Given the description of an element on the screen output the (x, y) to click on. 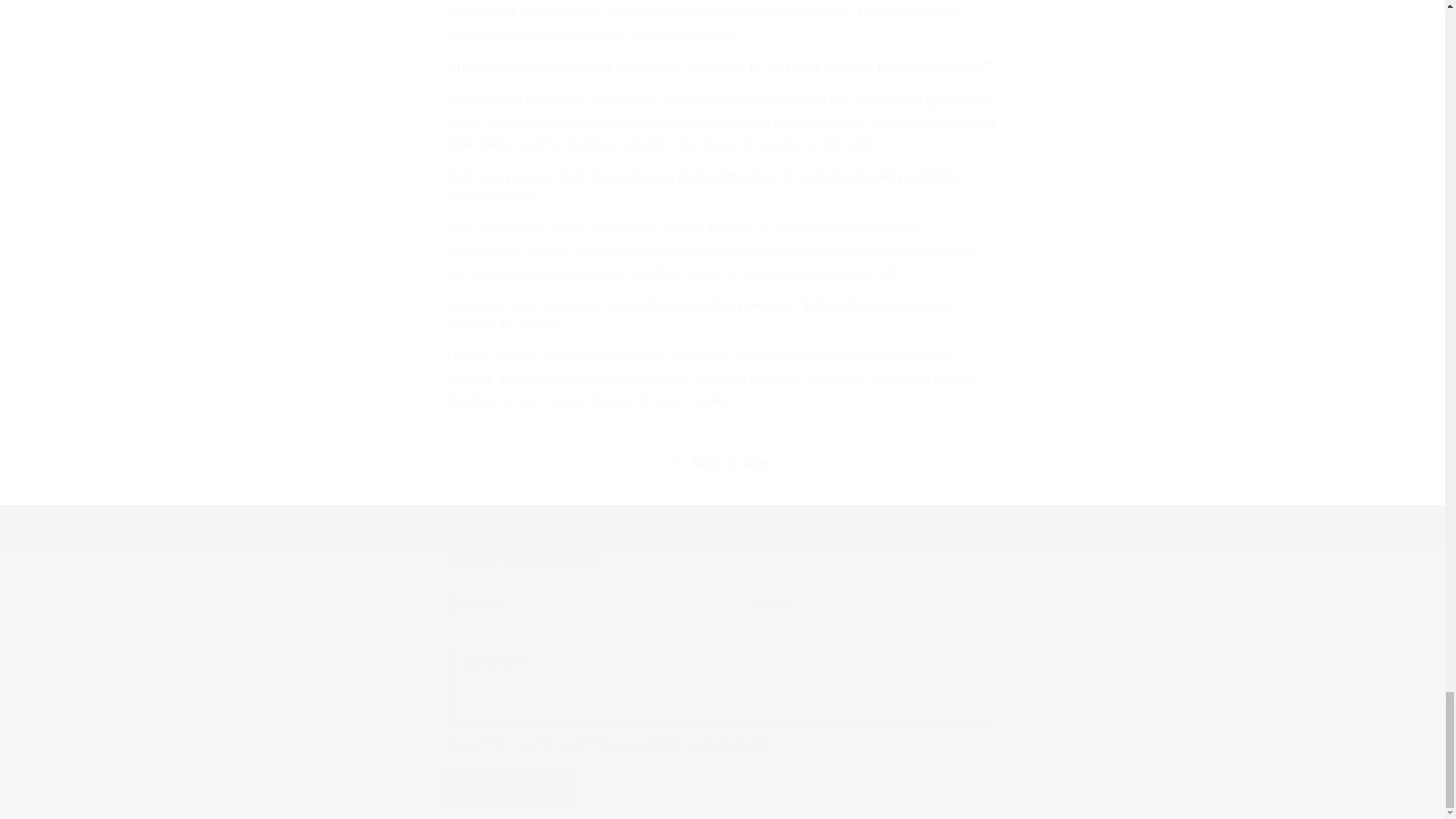
Post comment (510, 788)
Post comment (510, 788)
